Given the description of an element on the screen output the (x, y) to click on. 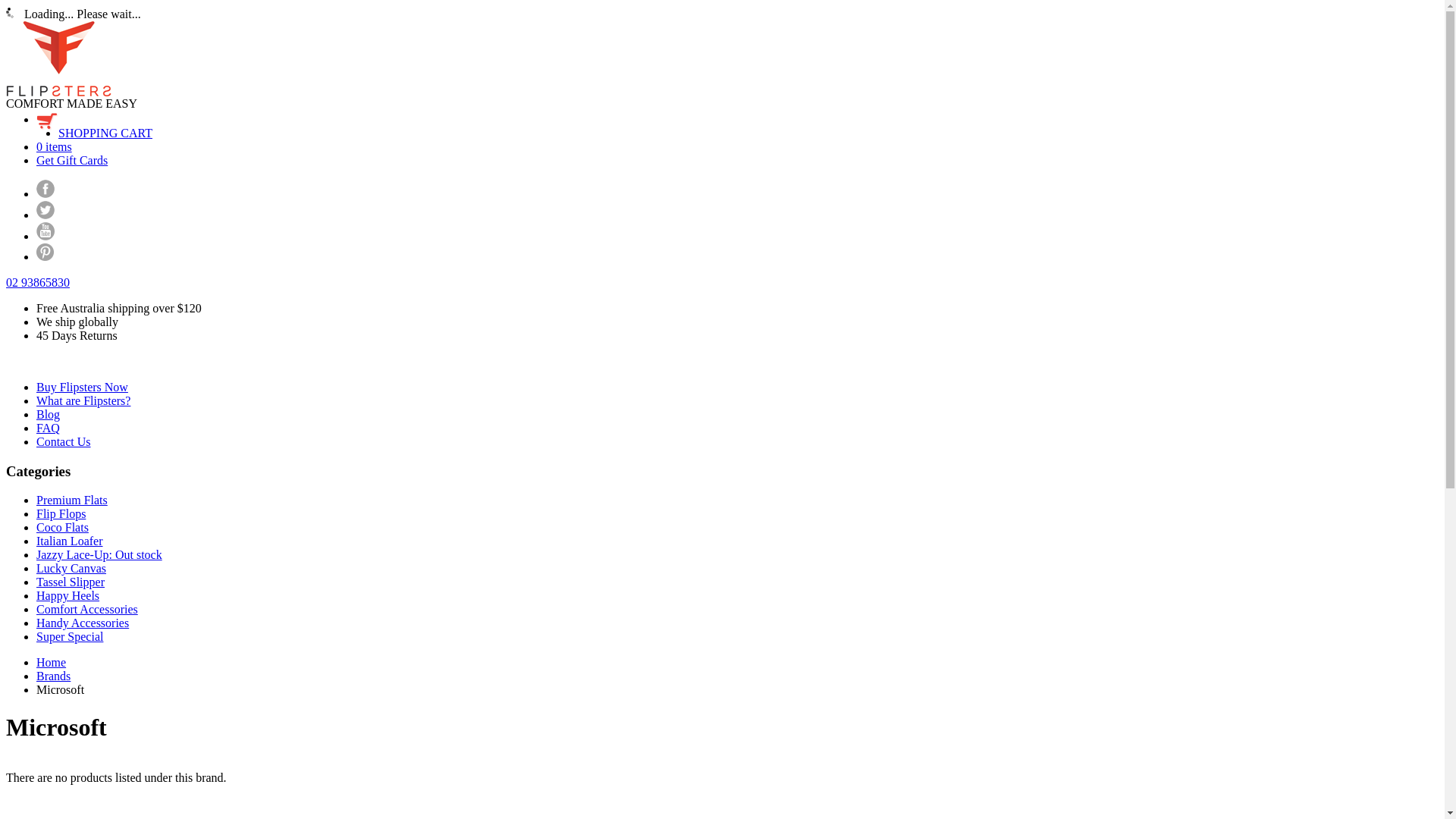
Blog Element type: text (47, 413)
Comfort Accessories Element type: text (87, 608)
SHOPPING CART Element type: text (105, 132)
0 items Element type: text (54, 146)
Flip Flops Element type: text (60, 513)
What are Flipsters? Element type: text (83, 400)
Happy Heels Element type: text (67, 595)
FAQ Element type: text (47, 427)
Super Special Element type: text (69, 636)
Flipsters Element type: hover (58, 92)
Lucky Canvas Element type: text (71, 567)
Follow us on Twitter Element type: hover (45, 214)
Handy Accessories Element type: text (82, 622)
Contact Us Element type: text (63, 441)
Watch us on YouTube Element type: hover (45, 235)
Italian Loafer Element type: text (69, 540)
Brands Element type: text (53, 675)
Buy Flipsters Now Element type: text (82, 386)
Coco Flats Element type: text (62, 526)
Home Element type: text (50, 661)
02 93865830 Element type: text (37, 282)
Get Gift Cards Element type: text (71, 159)
Jazzy Lace-Up: Out stock Element type: text (99, 554)
Like us on Facebook Element type: hover (45, 193)
Premium Flats Element type: text (71, 499)
Tassel Slipper Element type: text (70, 581)
